Given the description of an element on the screen output the (x, y) to click on. 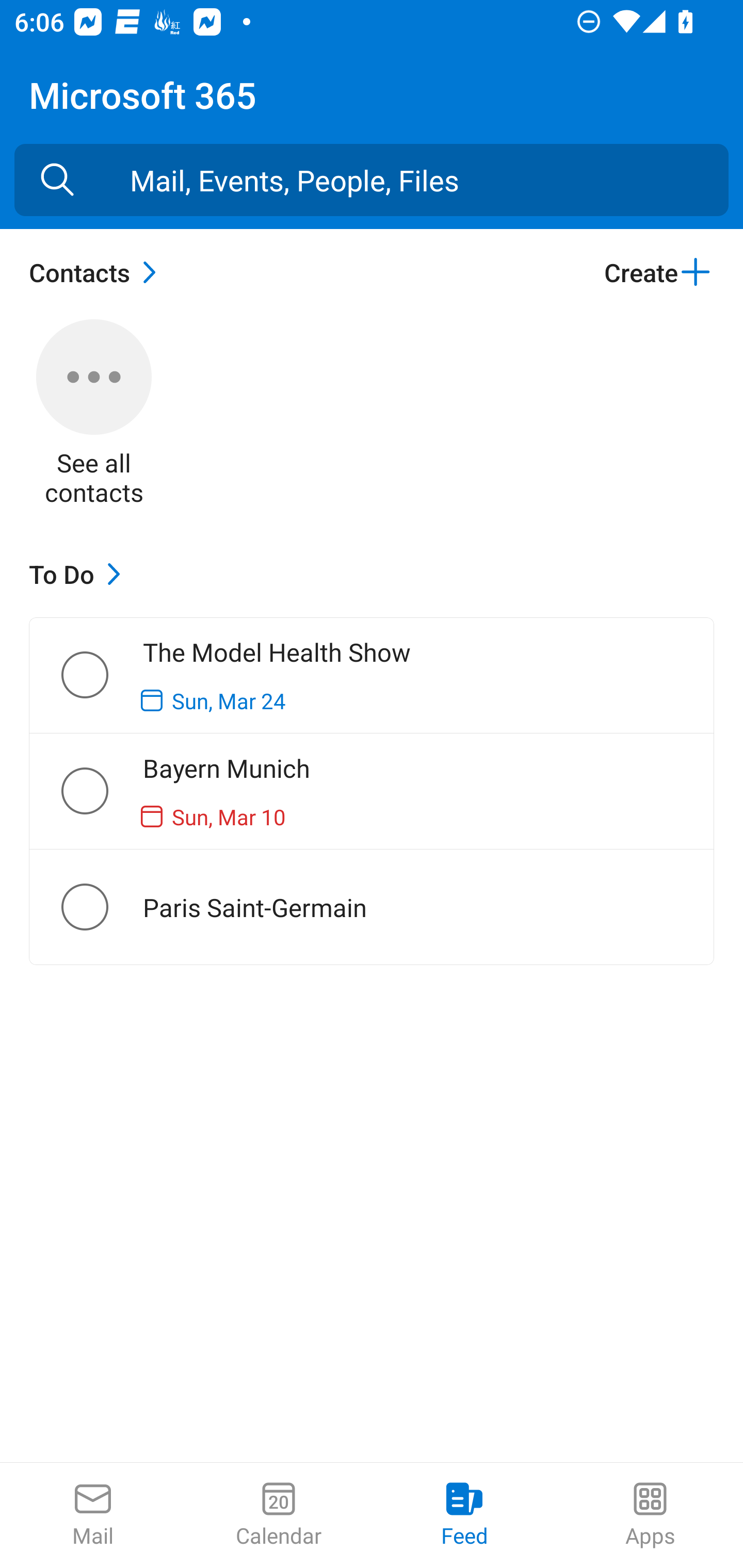
Search for Mail, Events, People, Files (57, 180)
Contacts (97, 271)
Create Create contact (658, 271)
See all contacts (93, 414)
To Do (79, 573)
The Model Health Show (101, 674)
Bayern Munich (101, 790)
Paris Saint-Germain (101, 906)
Mail (92, 1515)
Calendar (278, 1515)
Apps (650, 1515)
